Given the description of an element on the screen output the (x, y) to click on. 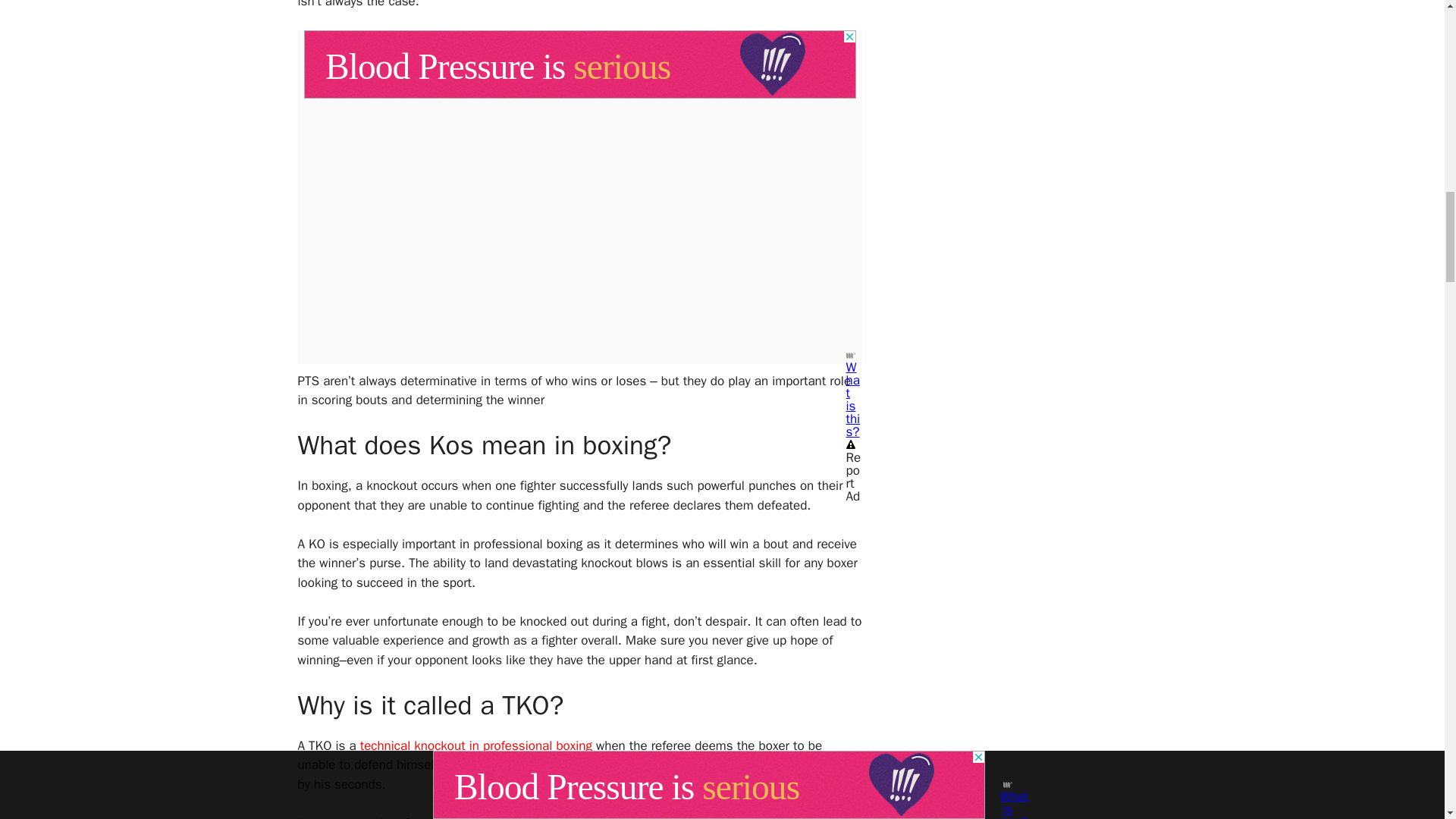
technical knockout in professional boxing (475, 744)
3rd party ad content (579, 64)
